Given the description of an element on the screen output the (x, y) to click on. 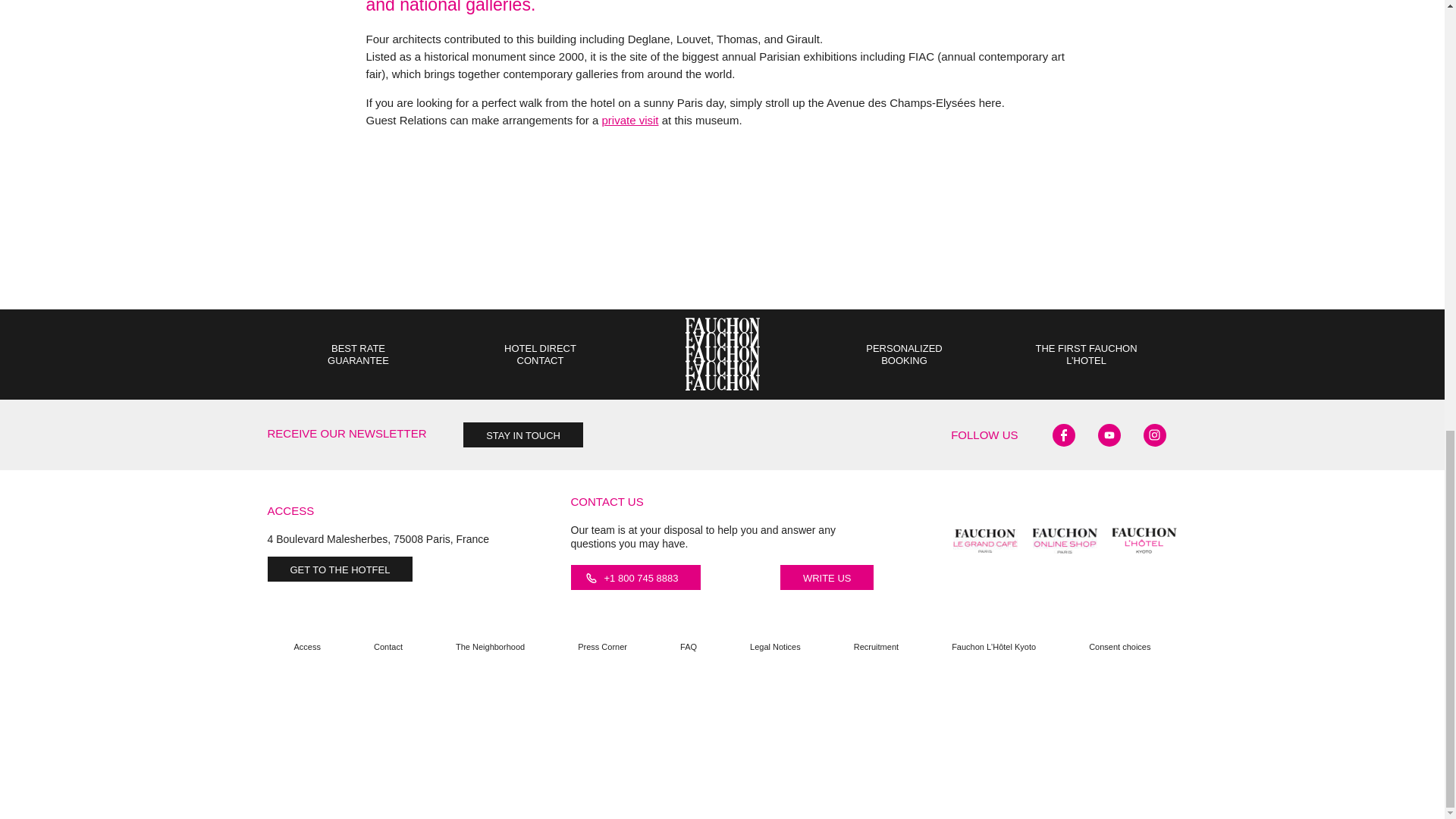
Follow us on Twitter (1109, 435)
HOTEL DIRECT CONTACT (539, 360)
Fauchon-Online-Shop.jpg (1064, 540)
fauchon-le-grand-cafe.jpg (985, 540)
STAY IN TOUCH (523, 434)
private visit (630, 119)
Follow us on Instagram (1154, 435)
Follow us on Facebook (1063, 435)
PERSONALIZED BOOKING (903, 360)
BEST RATE GUARANTEE (357, 360)
